Given the description of an element on the screen output the (x, y) to click on. 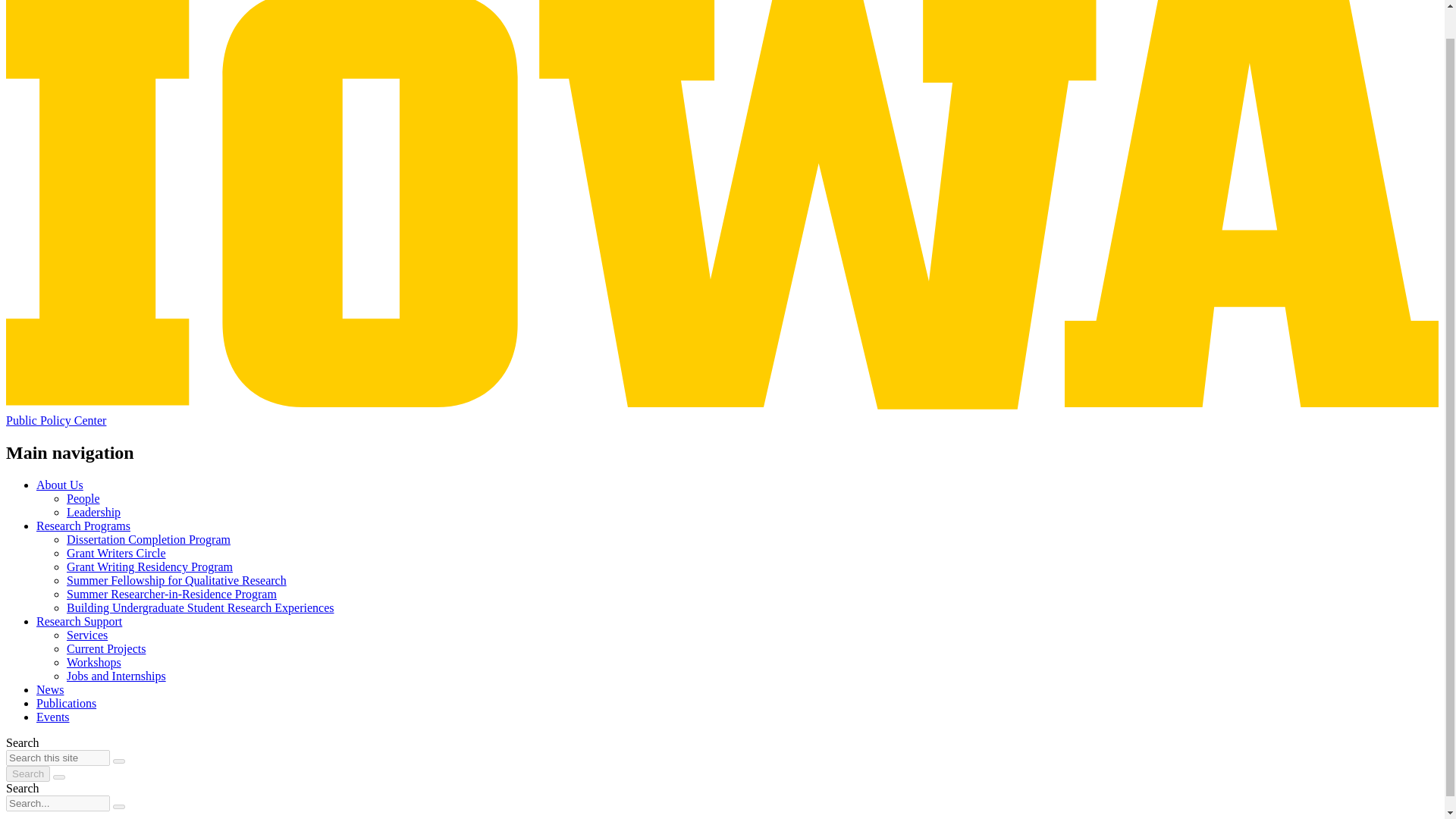
Workshops (93, 662)
Services (86, 634)
Leadership (93, 512)
Building Undergraduate Student Research Experiences (199, 607)
Summer Researcher-in-Residence Program (171, 594)
Research Support (79, 621)
Research Programs (83, 525)
News (50, 689)
Publications (66, 703)
Grant Writers Circle (115, 553)
